Given the description of an element on the screen output the (x, y) to click on. 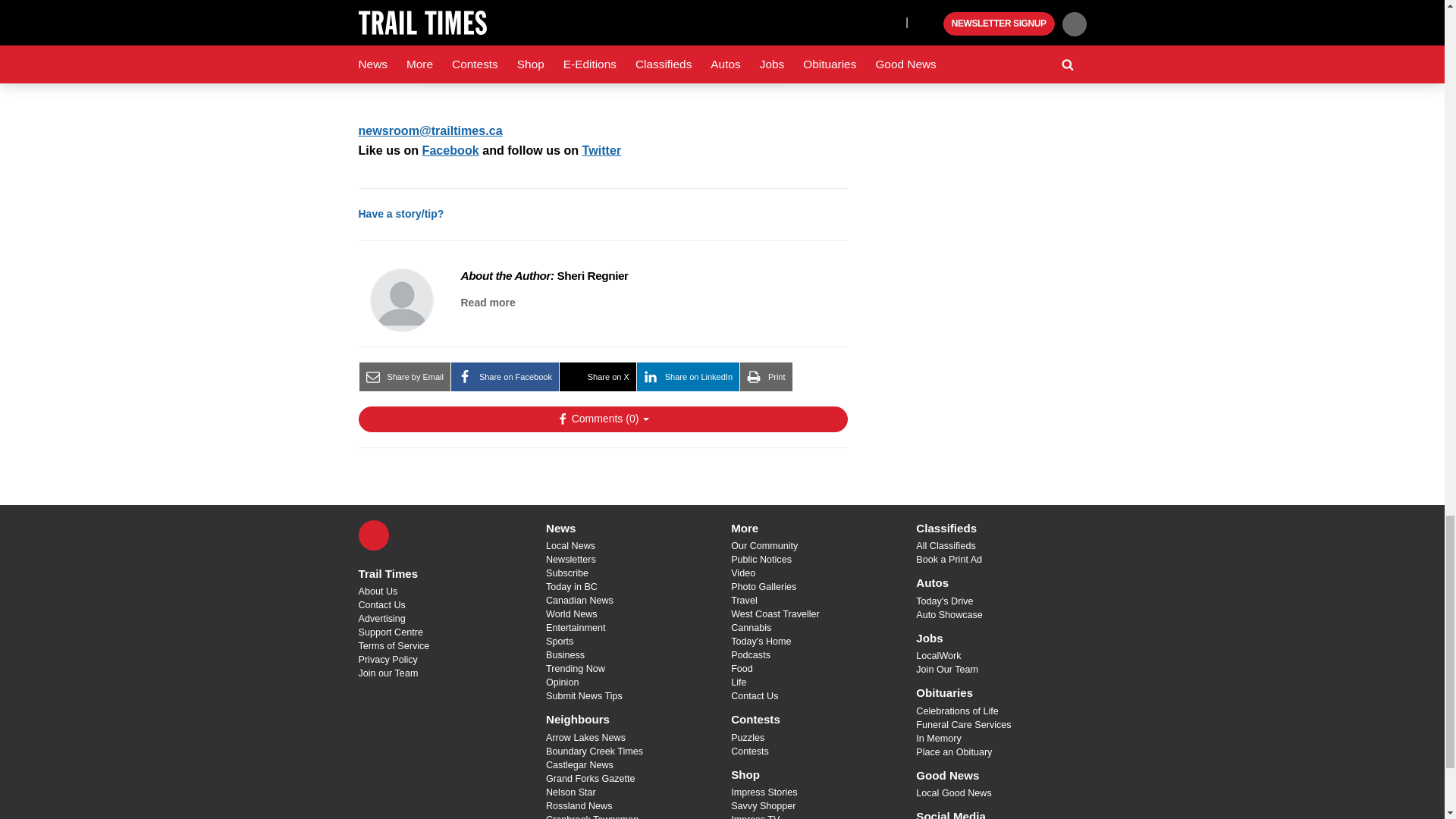
Show Comments (602, 419)
X (373, 535)
